Given the description of an element on the screen output the (x, y) to click on. 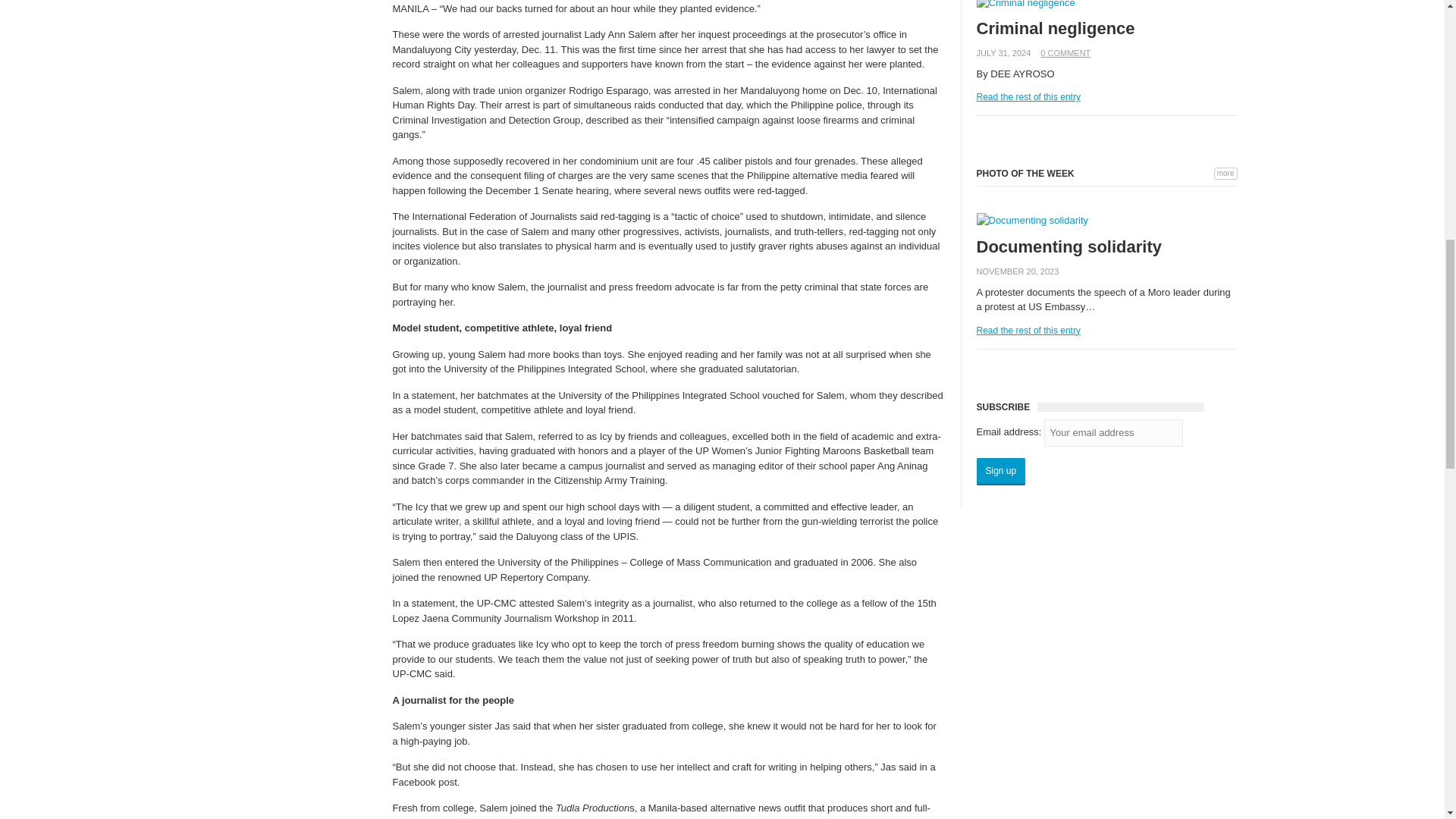
Sign up (1001, 471)
